Given the description of an element on the screen output the (x, y) to click on. 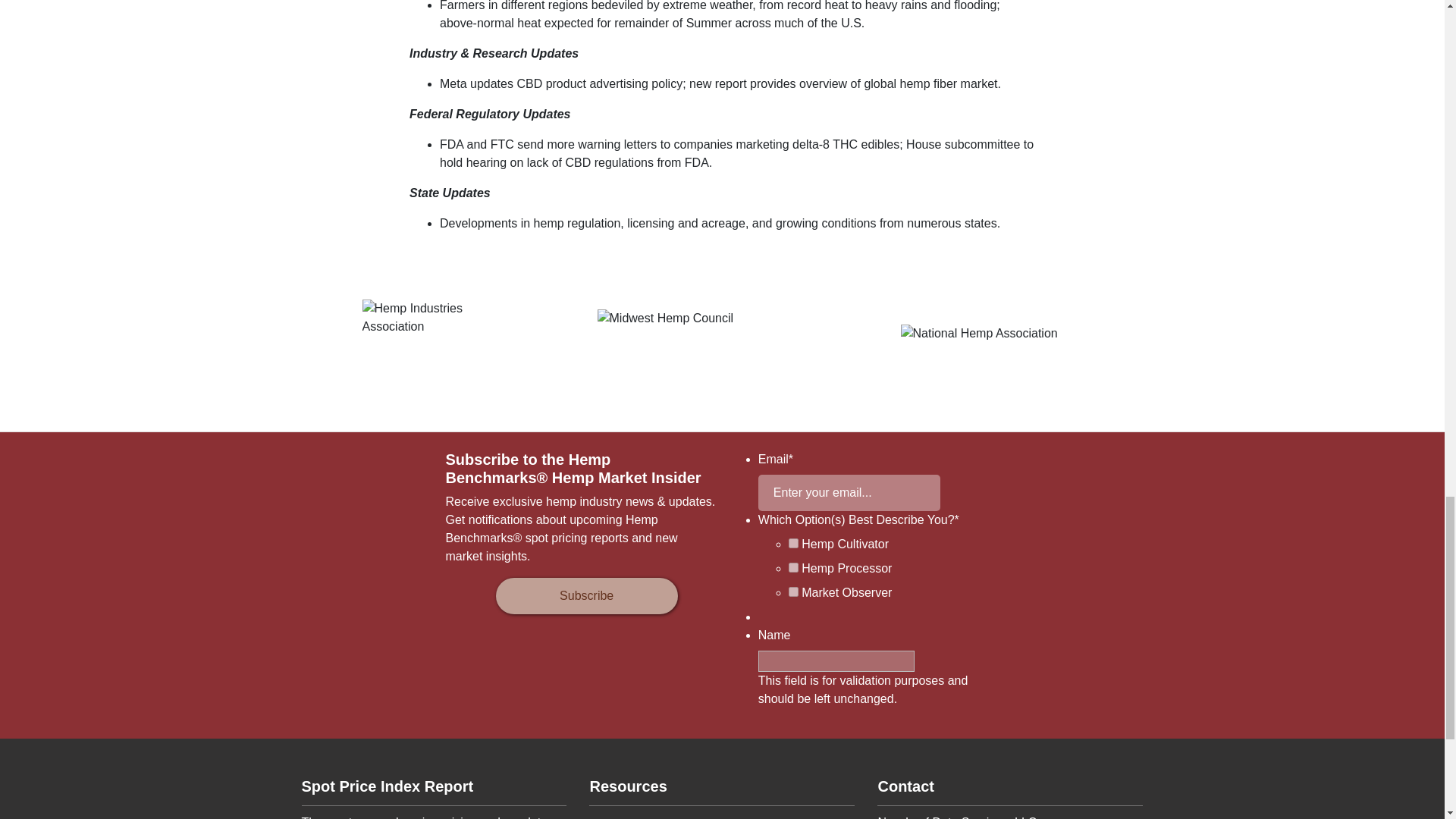
Special Reports (721, 816)
Subscribe (587, 596)
Cultivator (793, 542)
Subscribe (587, 596)
Market Observer (793, 592)
Processor (793, 567)
